Given the description of an element on the screen output the (x, y) to click on. 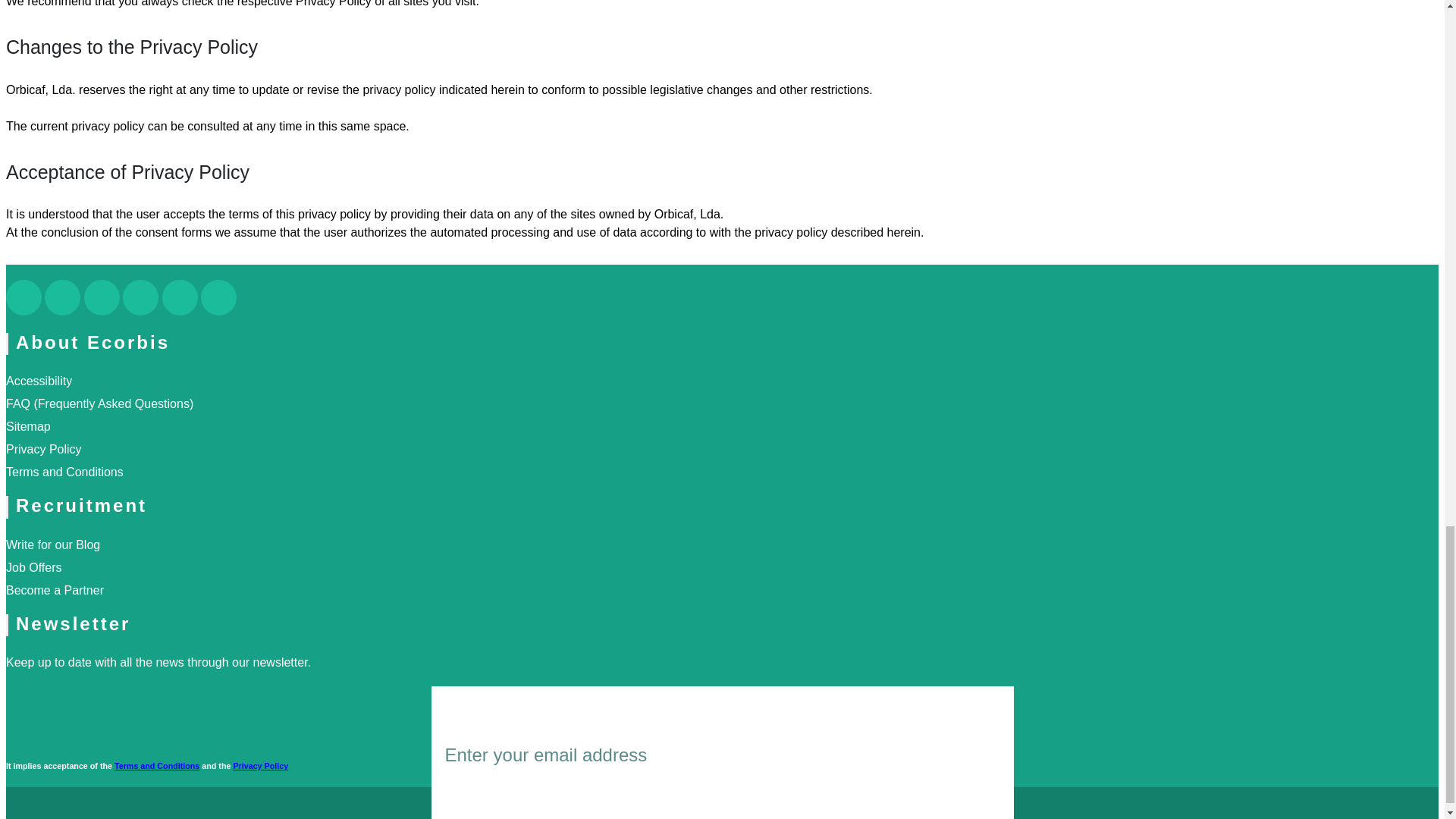
Sitemap (27, 426)
Terms and Conditions (64, 472)
Keep up to date with all the news through our newsletter. (158, 662)
Job Offers (33, 567)
Become a Partner (54, 590)
Terms and Conditions (157, 765)
Privacy Policy (260, 765)
Accessibility (38, 380)
Ecorbis (783, 805)
Write for our Blog (52, 544)
Privacy Policy (43, 449)
